Given the description of an element on the screen output the (x, y) to click on. 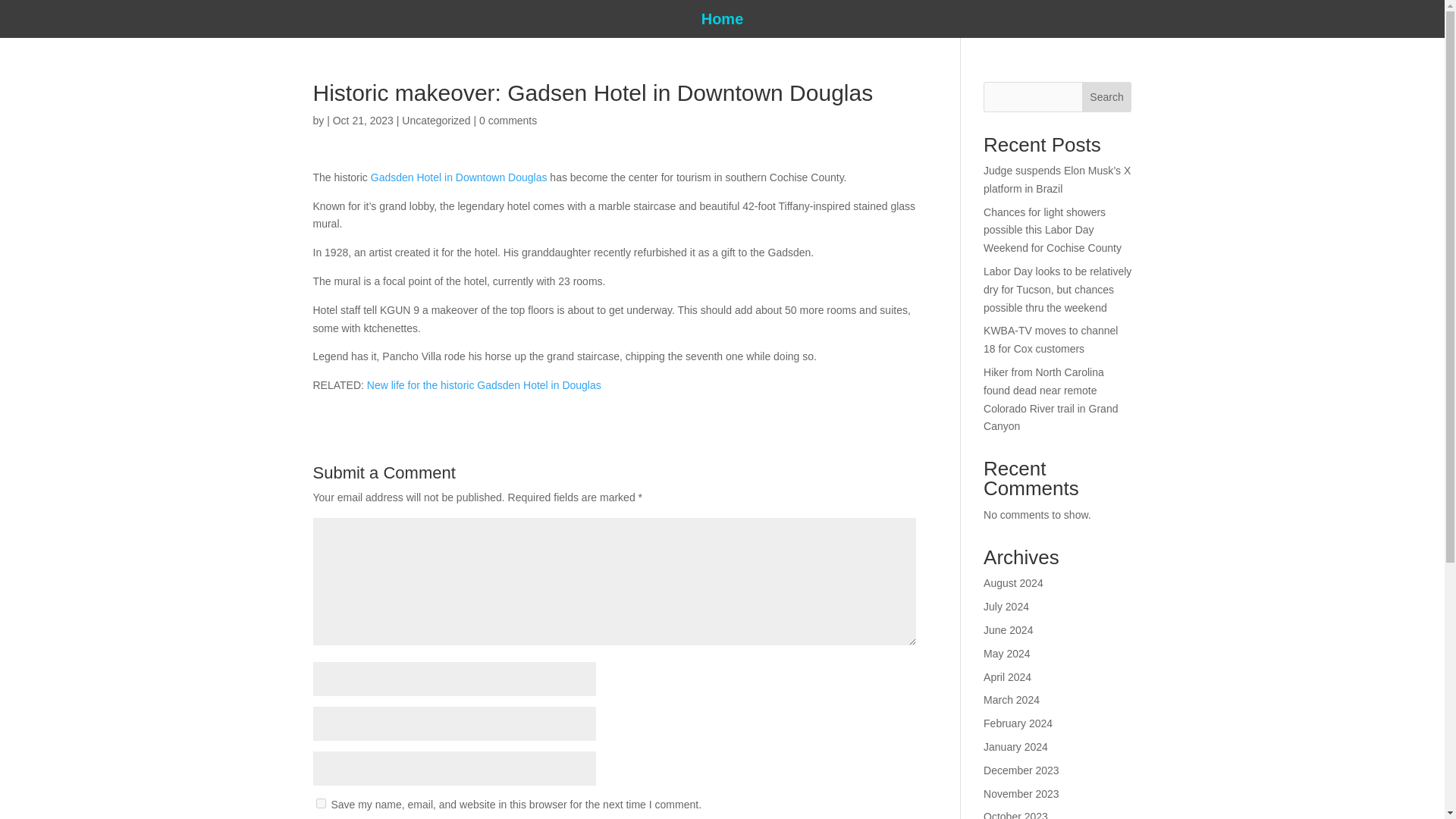
October 2023 (1016, 814)
January 2024 (1016, 746)
May 2024 (1006, 653)
New life for the historic Gadsden Hotel in Douglas (483, 385)
Uncategorized (435, 120)
August 2024 (1013, 582)
June 2024 (1008, 630)
Search (1106, 96)
February 2024 (1018, 723)
